Given the description of an element on the screen output the (x, y) to click on. 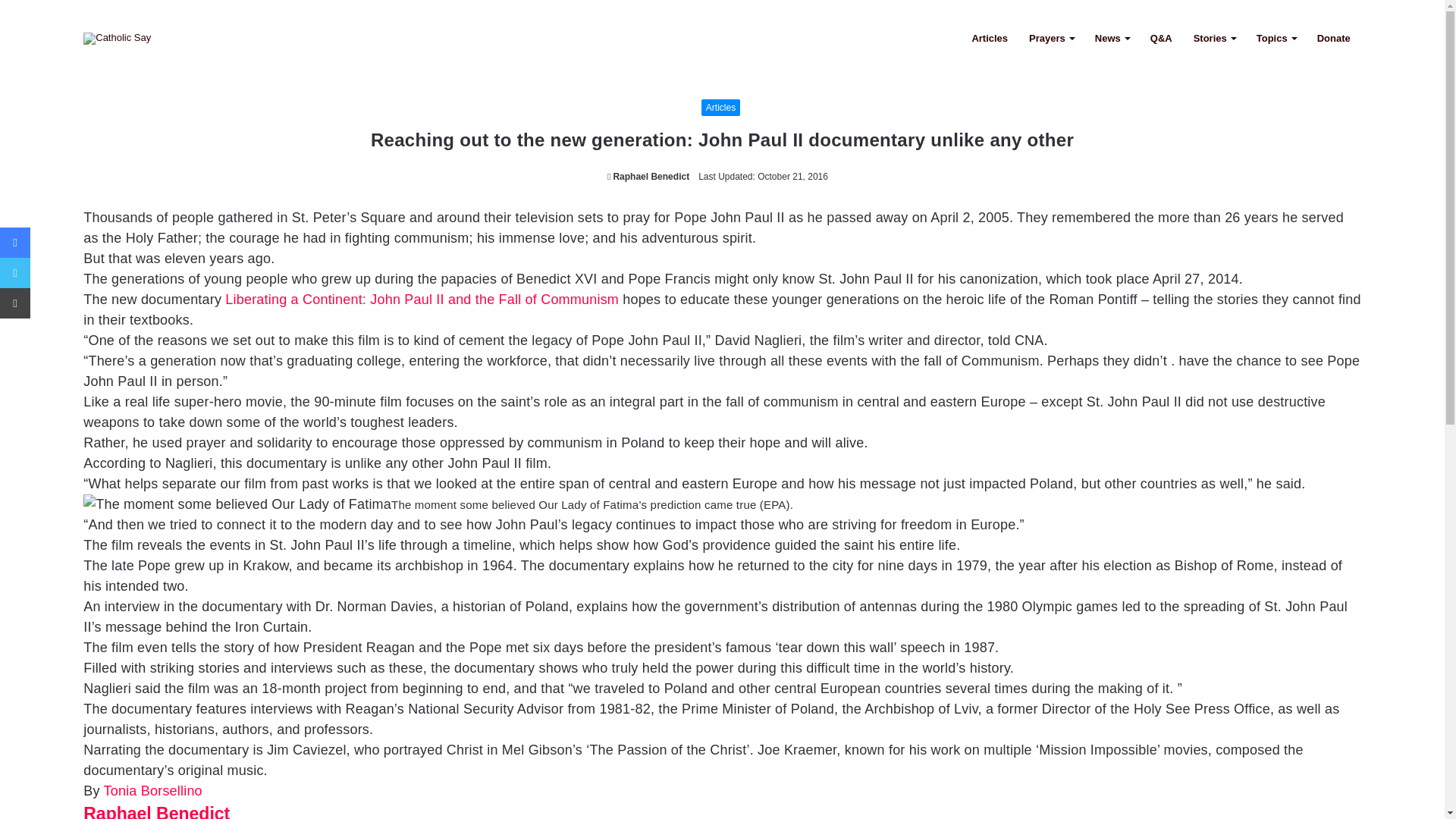
Catholic Say (116, 37)
Articles (720, 107)
Facebook (15, 242)
Raphael Benedict (156, 811)
Raphael Benedict (647, 176)
Tonia Borsellino (152, 790)
Raphael Benedict (647, 176)
The moment some believed Our Lady of Fatima (236, 504)
Twitter (15, 272)
Print (15, 303)
